Given the description of an element on the screen output the (x, y) to click on. 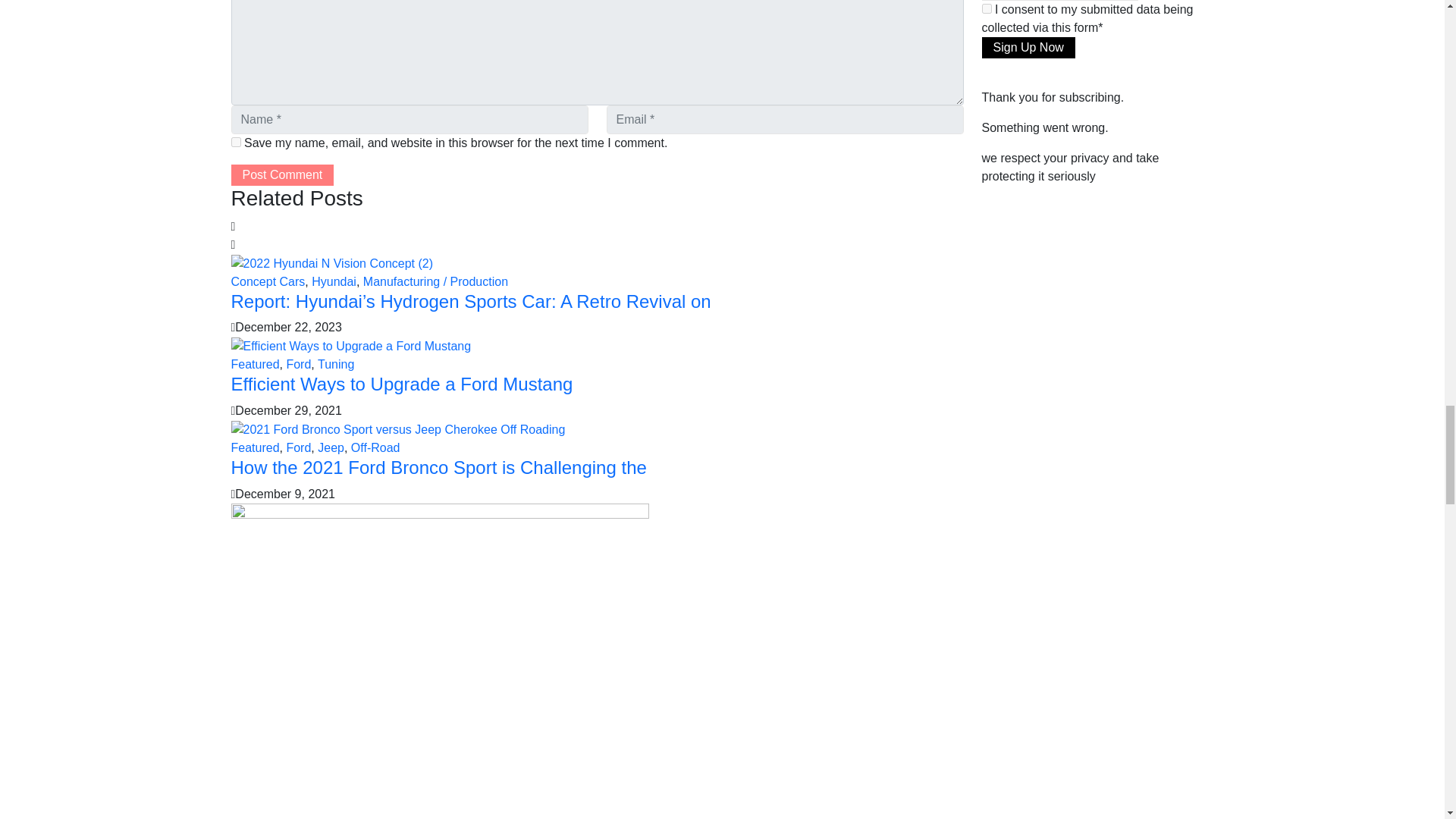
yes (235, 142)
on (986, 8)
Post Comment (281, 174)
Sign Up Now (1027, 47)
